Given the description of an element on the screen output the (x, y) to click on. 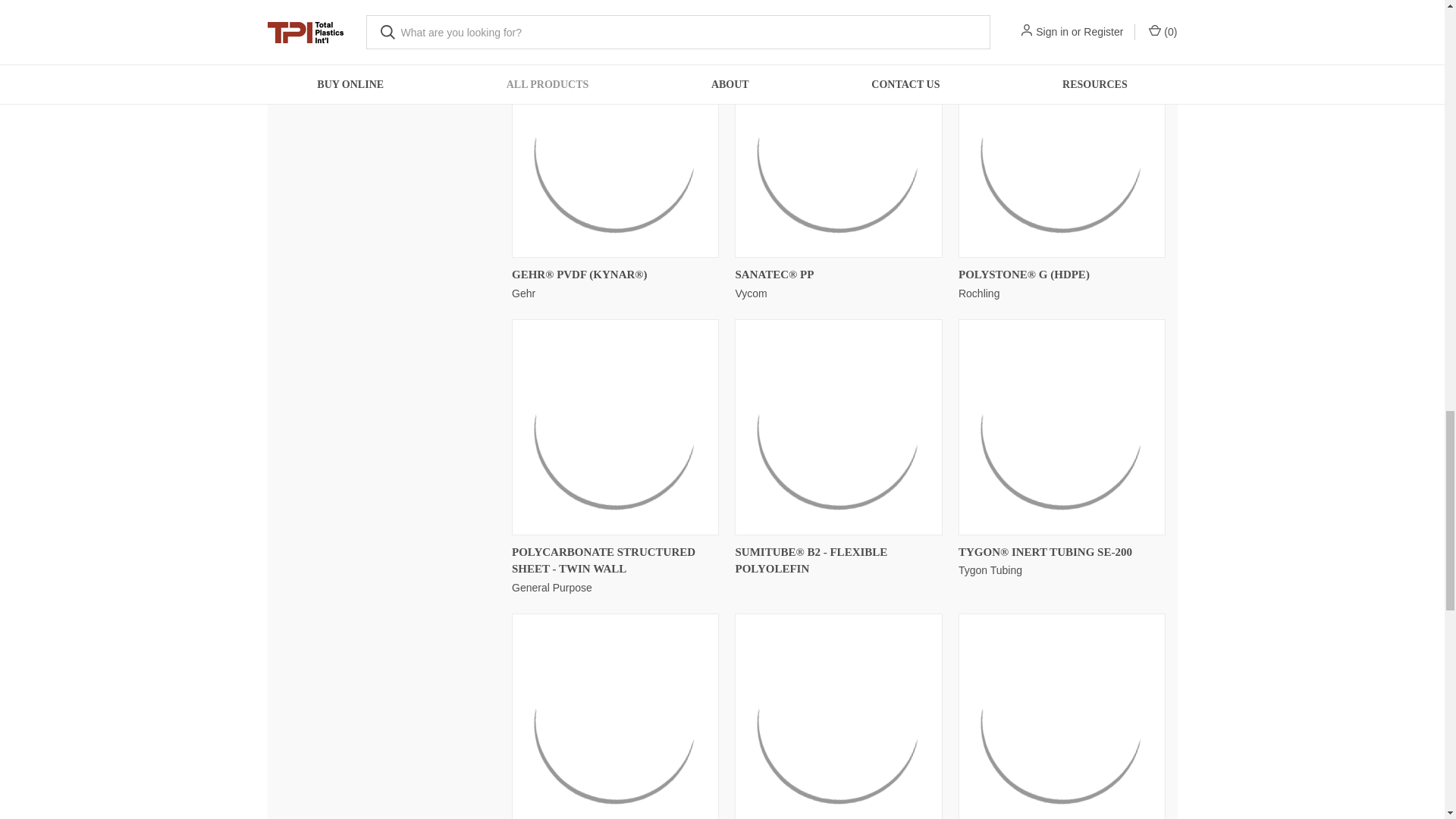
Polycarbonate Structured Sheet Twin Wall (615, 426)
Tygon logo (1060, 426)
